Given the description of an element on the screen output the (x, y) to click on. 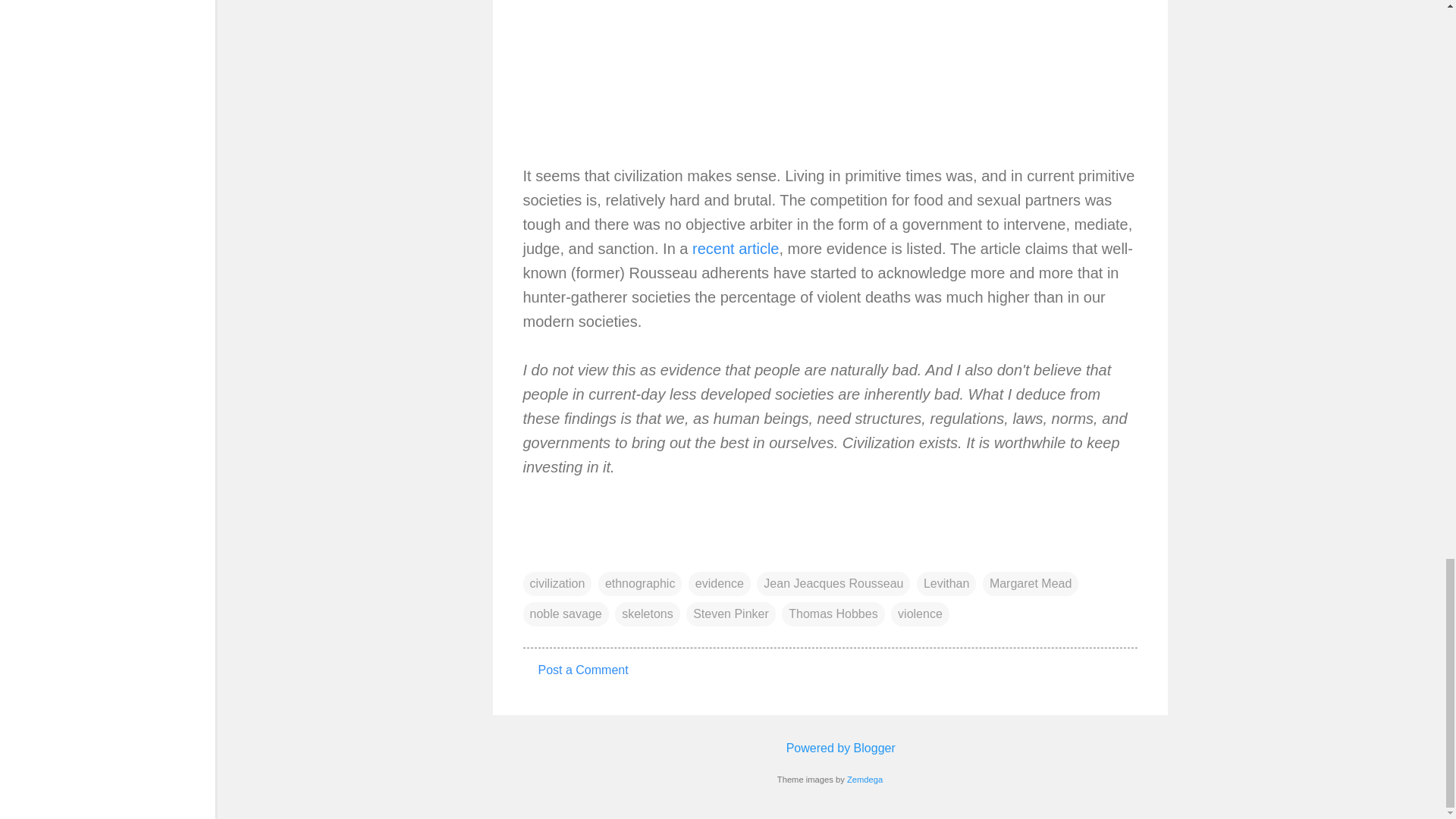
Steven Pinker (730, 613)
civilization (557, 583)
evidence (719, 583)
skeletons (646, 613)
noble savage (565, 613)
recent article (735, 248)
Zemdega (864, 778)
Post a Comment (583, 669)
ethnographic (640, 583)
Thomas Hobbes (832, 613)
Email Post (531, 553)
Margaret Mead (1030, 583)
violence (920, 613)
Levithan (946, 583)
Jean Jeacques Rousseau (833, 583)
